Given the description of an element on the screen output the (x, y) to click on. 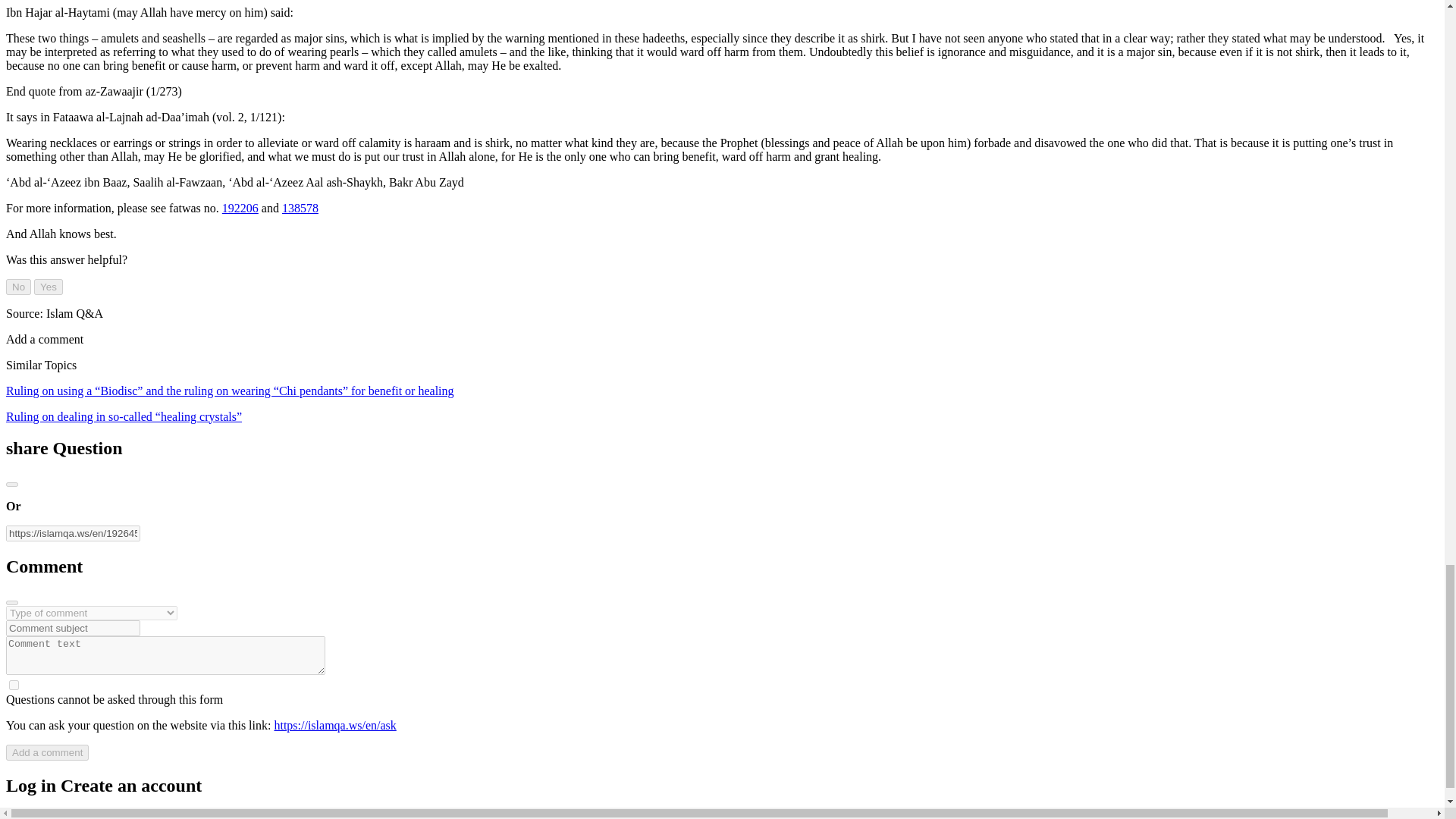
1 (13, 685)
